Given the description of an element on the screen output the (x, y) to click on. 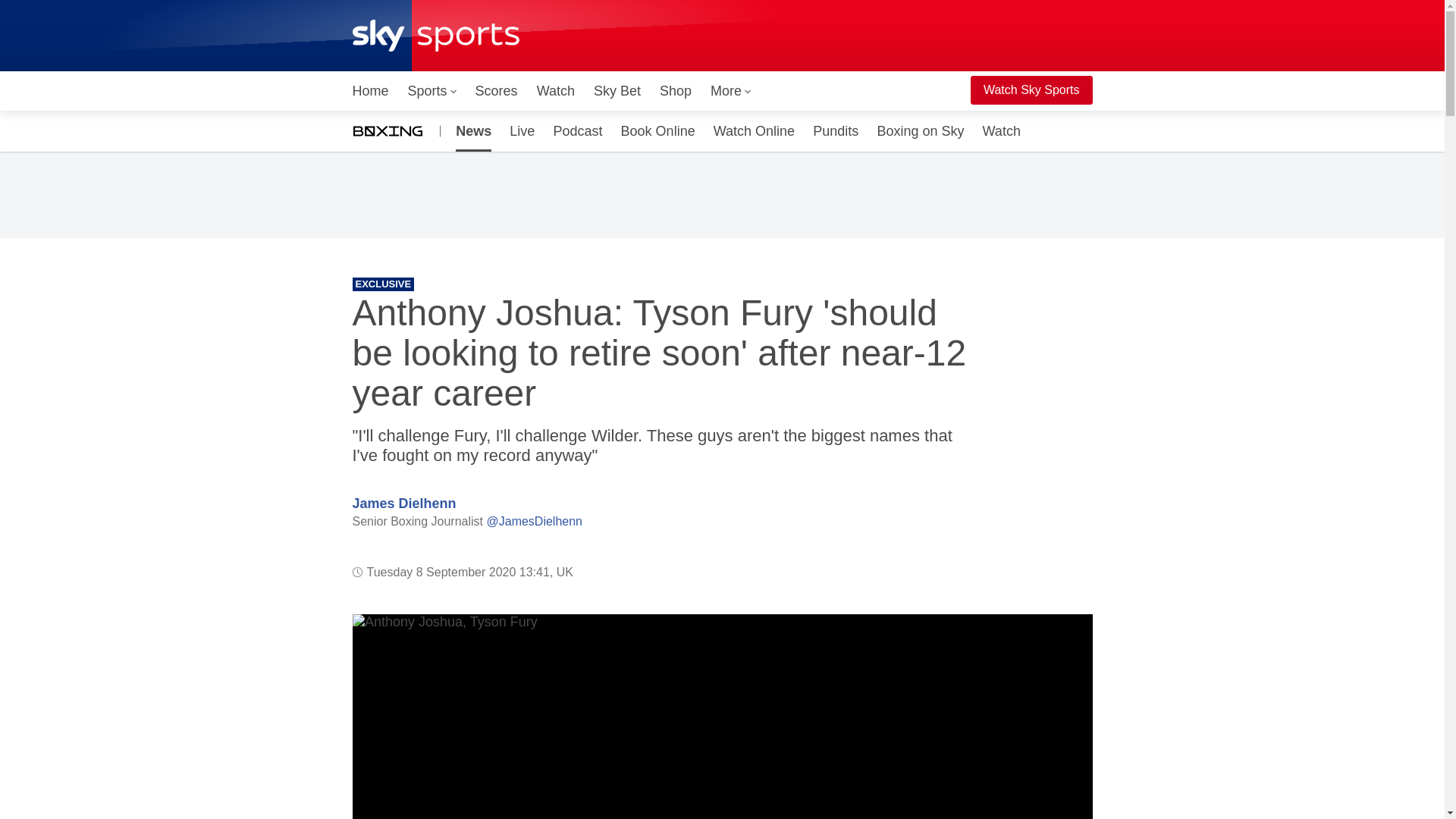
Scores (496, 91)
Podcast (577, 130)
Home (369, 91)
Watch Sky Sports (1032, 90)
More (730, 91)
News (470, 130)
Sky Bet (616, 91)
Watch (555, 91)
Sports (432, 91)
Book Online (657, 130)
